Given the description of an element on the screen output the (x, y) to click on. 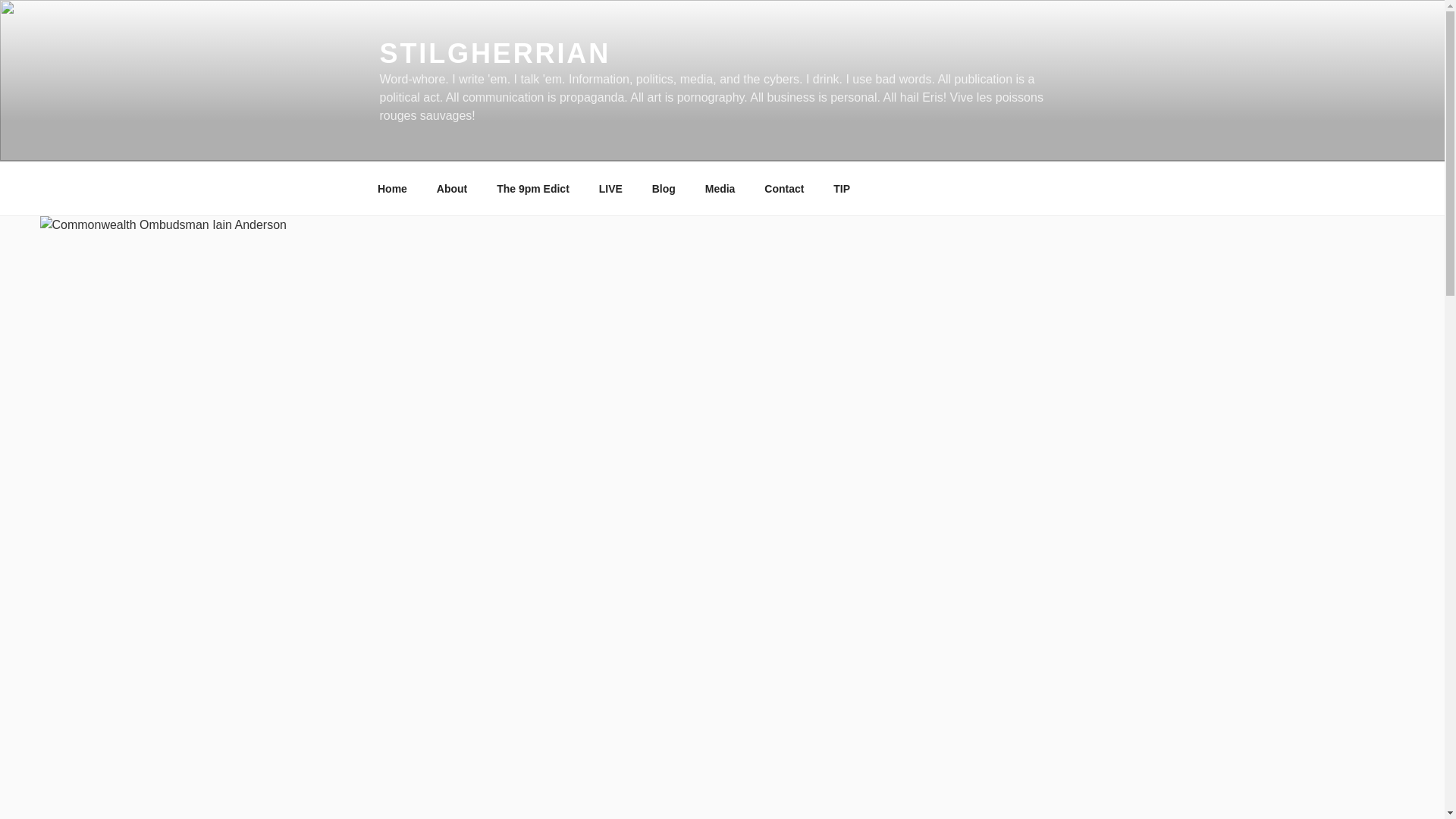
Contact (783, 188)
STILGHERRIAN (494, 52)
The 9pm Edict (533, 188)
Media (719, 188)
TIP (842, 188)
Media Output (719, 188)
LIVE (609, 188)
Blog (663, 188)
Contact (783, 188)
About (451, 188)
Home (392, 188)
About Stilgherrian (451, 188)
